Given the description of an element on the screen output the (x, y) to click on. 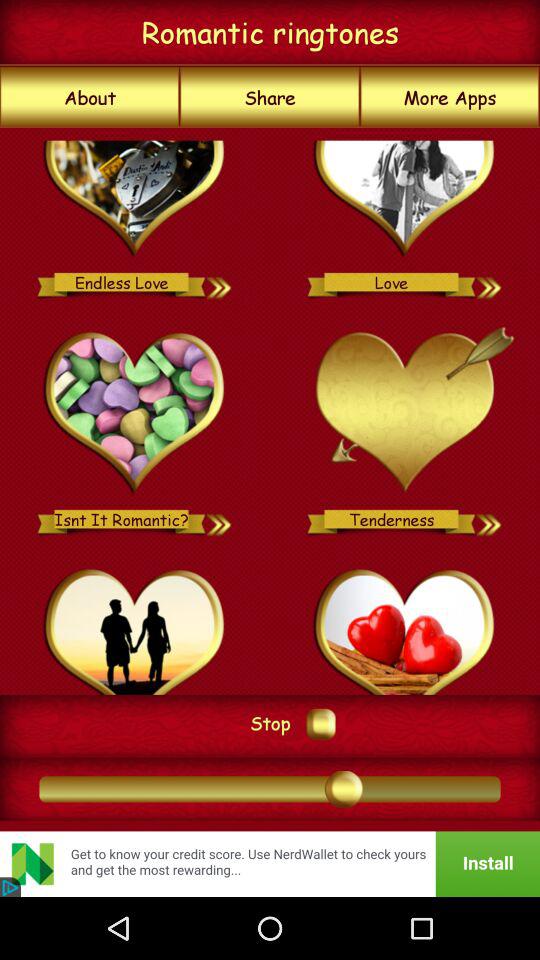
flip until stop (269, 722)
